Given the description of an element on the screen output the (x, y) to click on. 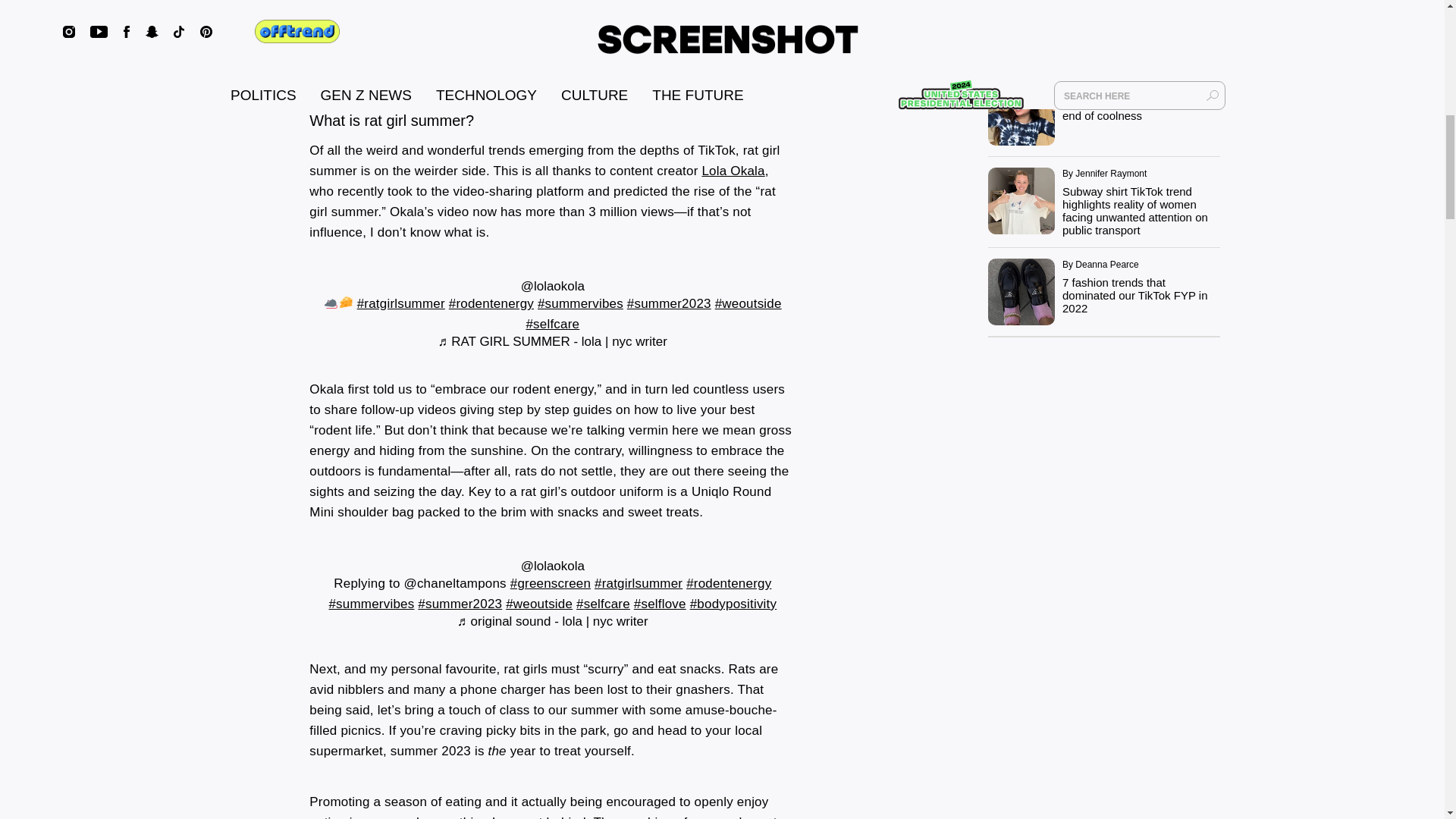
greenscreen (551, 583)
weoutside (538, 603)
summervibes (371, 603)
Lola Okala (732, 170)
rodentenergy (491, 303)
weoutside (747, 303)
summer2023 (459, 603)
rodentenergy (728, 583)
selfcare (552, 323)
selfcare (603, 603)
ratgirlsummer (638, 583)
summer2023 (669, 303)
ratgirlsummer (400, 303)
summervibes (580, 303)
